Given the description of an element on the screen output the (x, y) to click on. 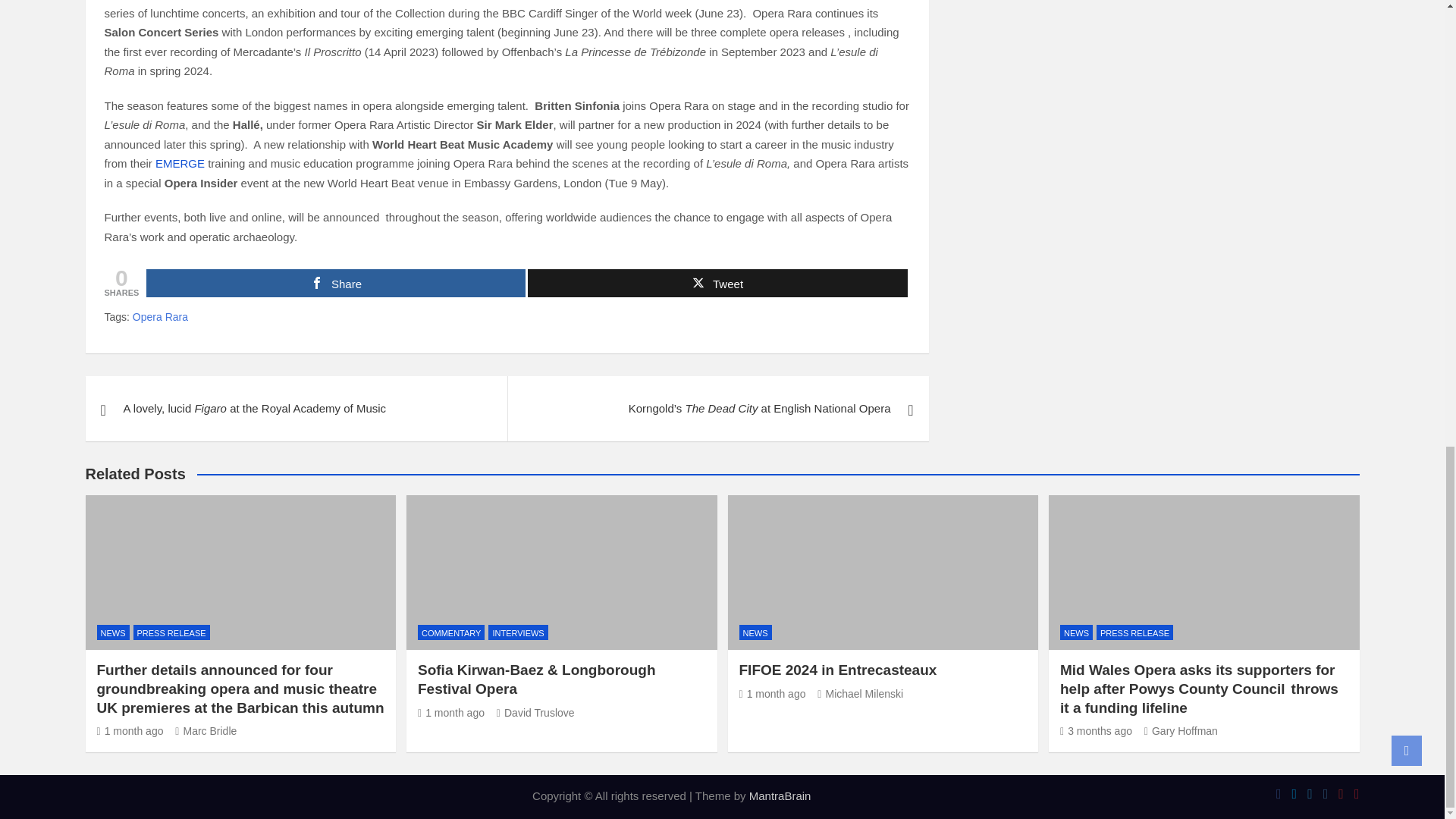
Share (336, 283)
1 month ago (130, 730)
EMERGE (180, 163)
NEWS (113, 632)
Marc Bridle (204, 730)
FIFOE 2024 in Entrecasteaux (771, 693)
INTERVIEWS (517, 632)
Tweet (717, 283)
